Given the description of an element on the screen output the (x, y) to click on. 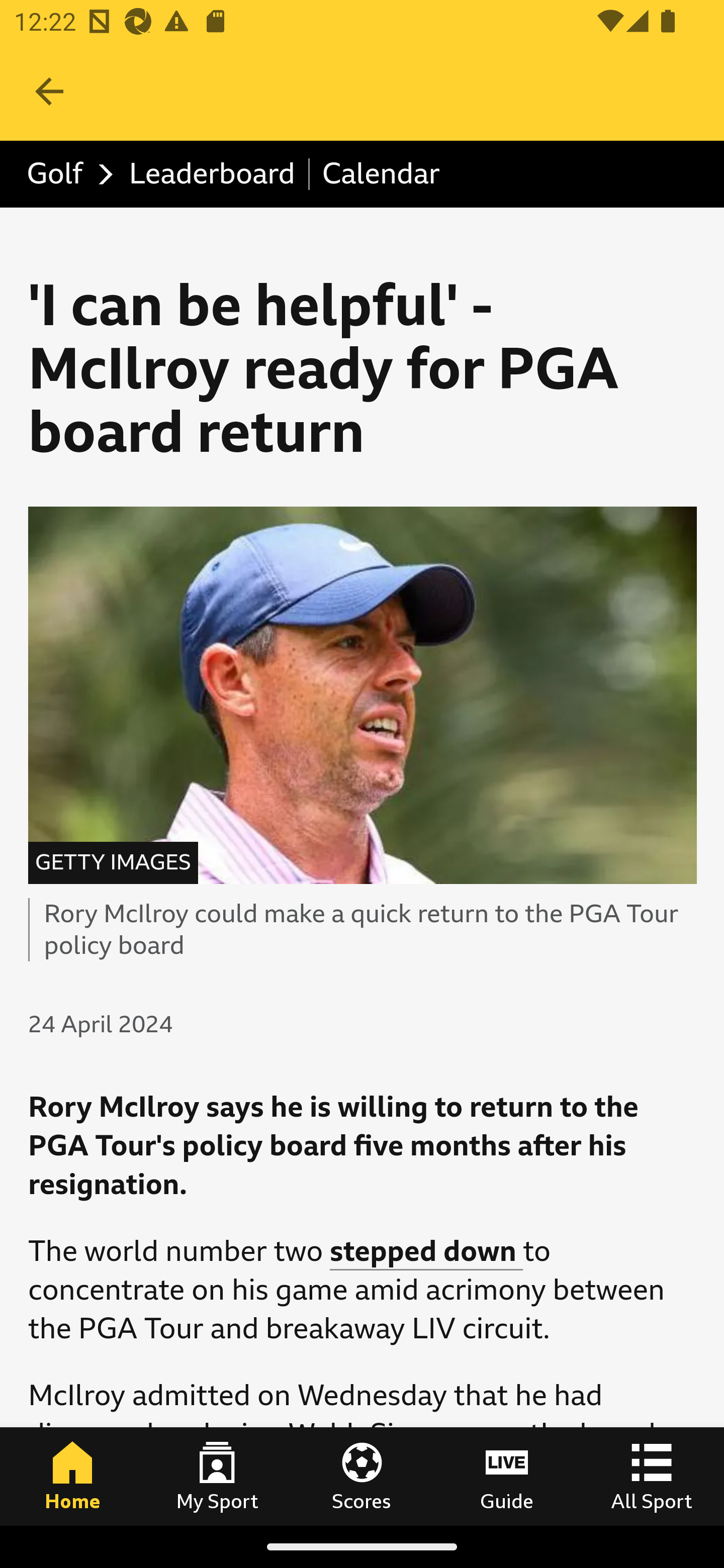
Navigate up (49, 91)
Golf (65, 173)
Leaderboard (213, 173)
Calendar (380, 173)
stepped down  (426, 1251)
My Sport (216, 1475)
Scores (361, 1475)
Guide (506, 1475)
All Sport (651, 1475)
